Given the description of an element on the screen output the (x, y) to click on. 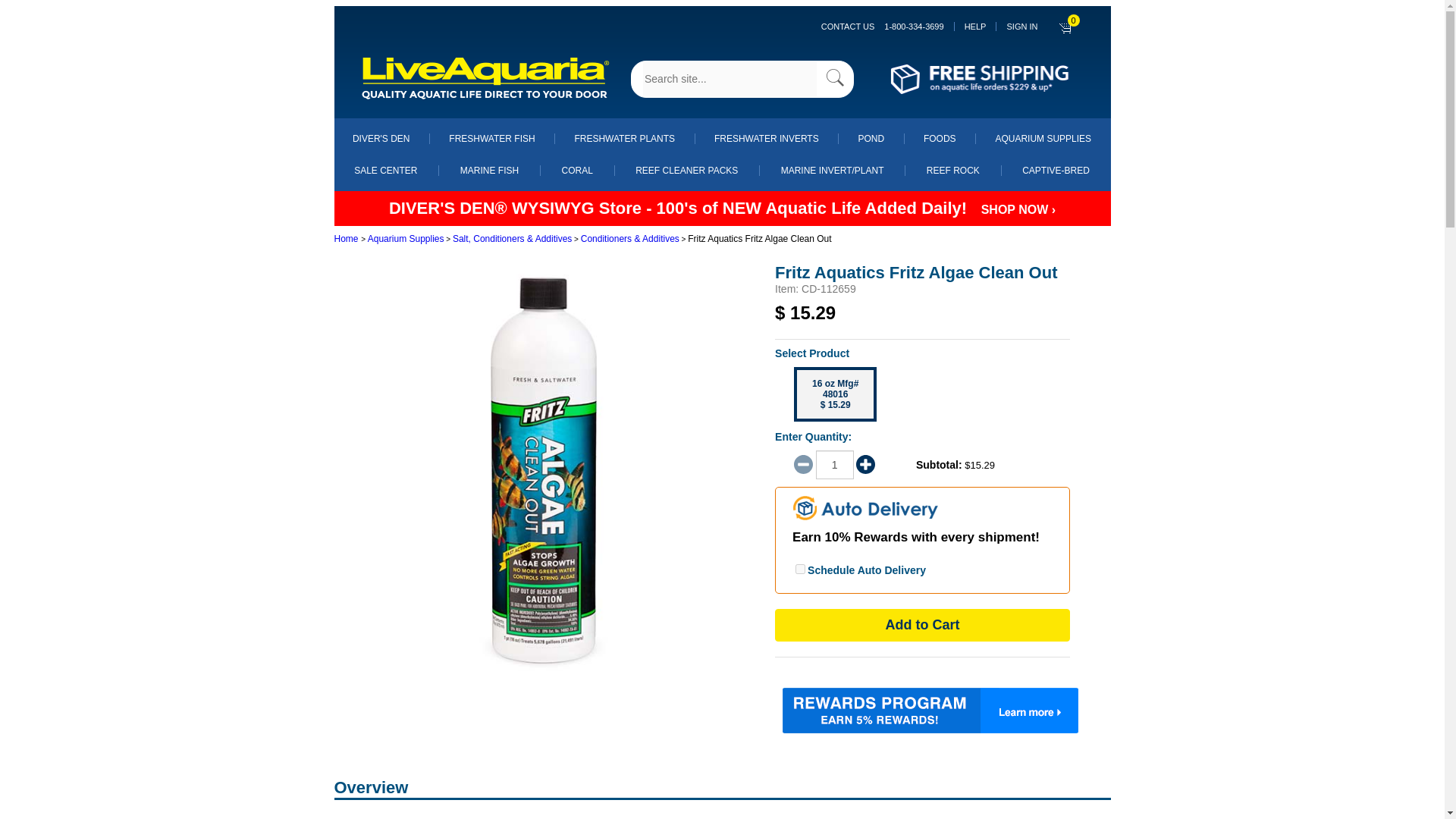
Type in a name (729, 78)
Pond (870, 138)
Freshwater Inverts (766, 138)
Diver's Den (381, 138)
Coral (577, 170)
Foods (939, 138)
Captive-Bred (1055, 170)
Aquarium Supplies (1042, 138)
Live Aquaria:  Quality Aquatic Life Direct To Your Door (486, 79)
Marine Fish (489, 170)
Reef Cleaner Packs (686, 170)
Reef Rock (952, 170)
Edit Shopping Cart (1066, 26)
Freshwater Fish (491, 138)
